Given the description of an element on the screen output the (x, y) to click on. 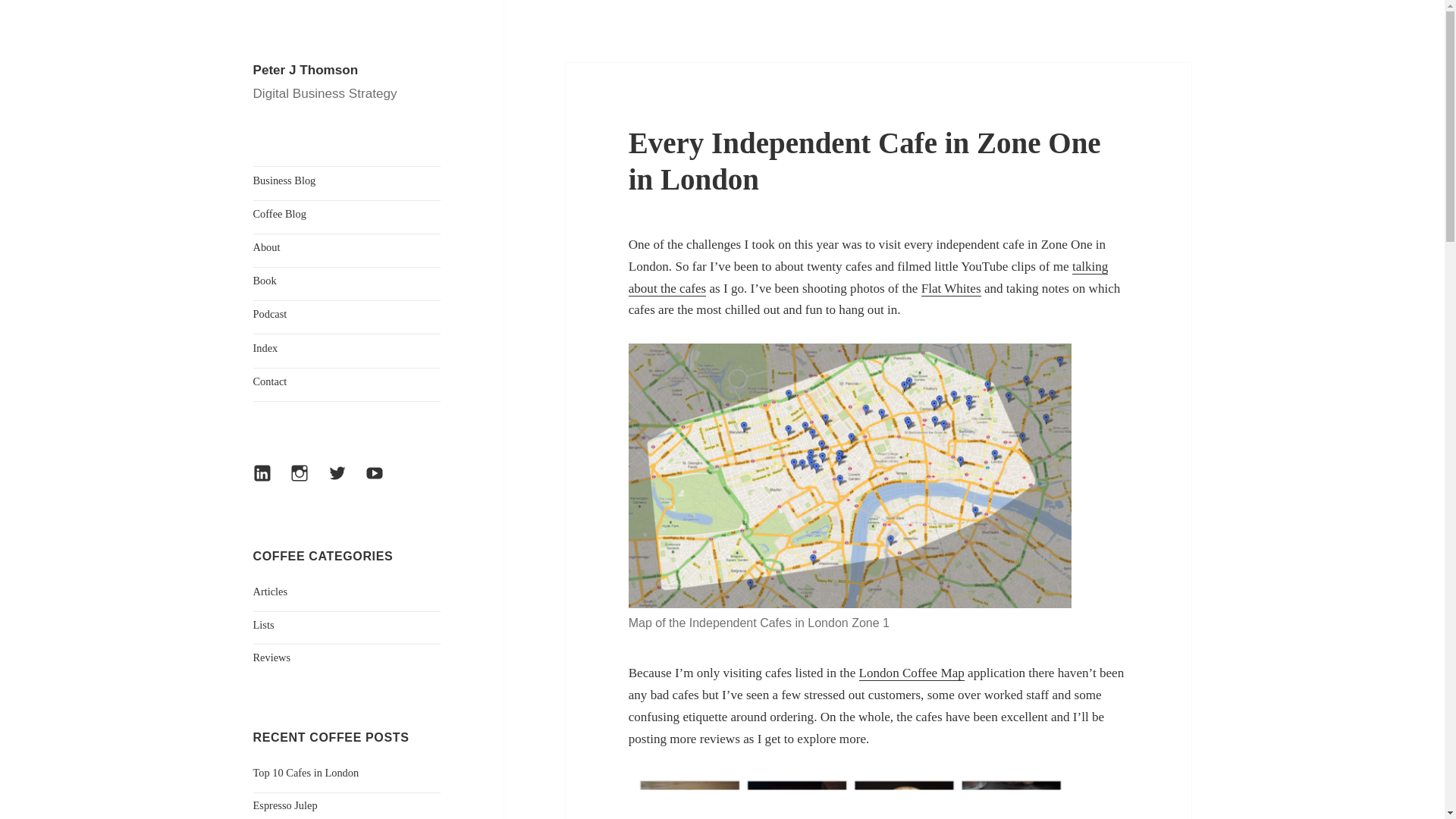
Index (347, 347)
London Coffee Map Zone 1 (849, 475)
Espresso Julep (285, 805)
Top 10 Cafes in London (306, 772)
Peter J Thomson (305, 69)
Reviews (272, 657)
LinkedIn (269, 480)
Instagram (306, 480)
Book (347, 280)
London Coffee Videos (868, 277)
